Given the description of an element on the screen output the (x, y) to click on. 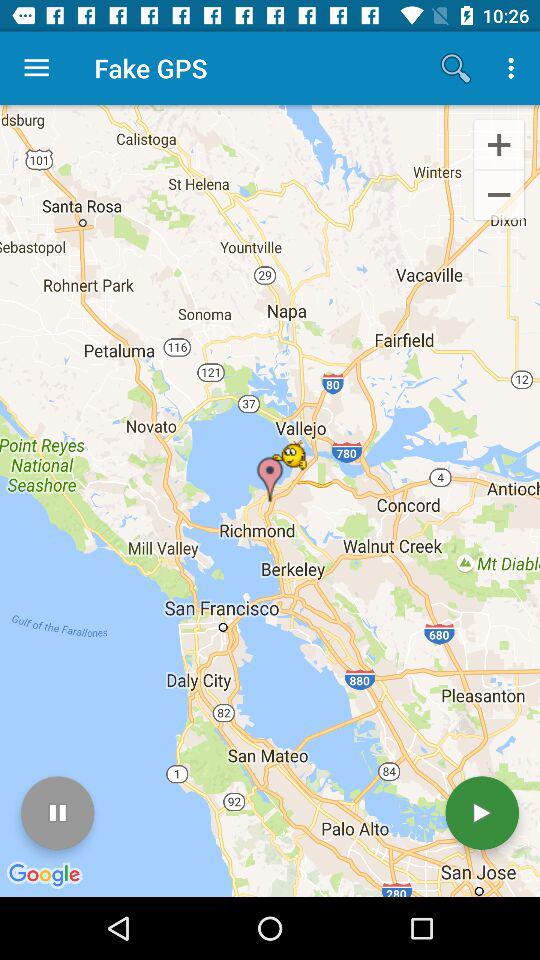
tap the icon to the right of the fake gps icon (455, 67)
